Given the description of an element on the screen output the (x, y) to click on. 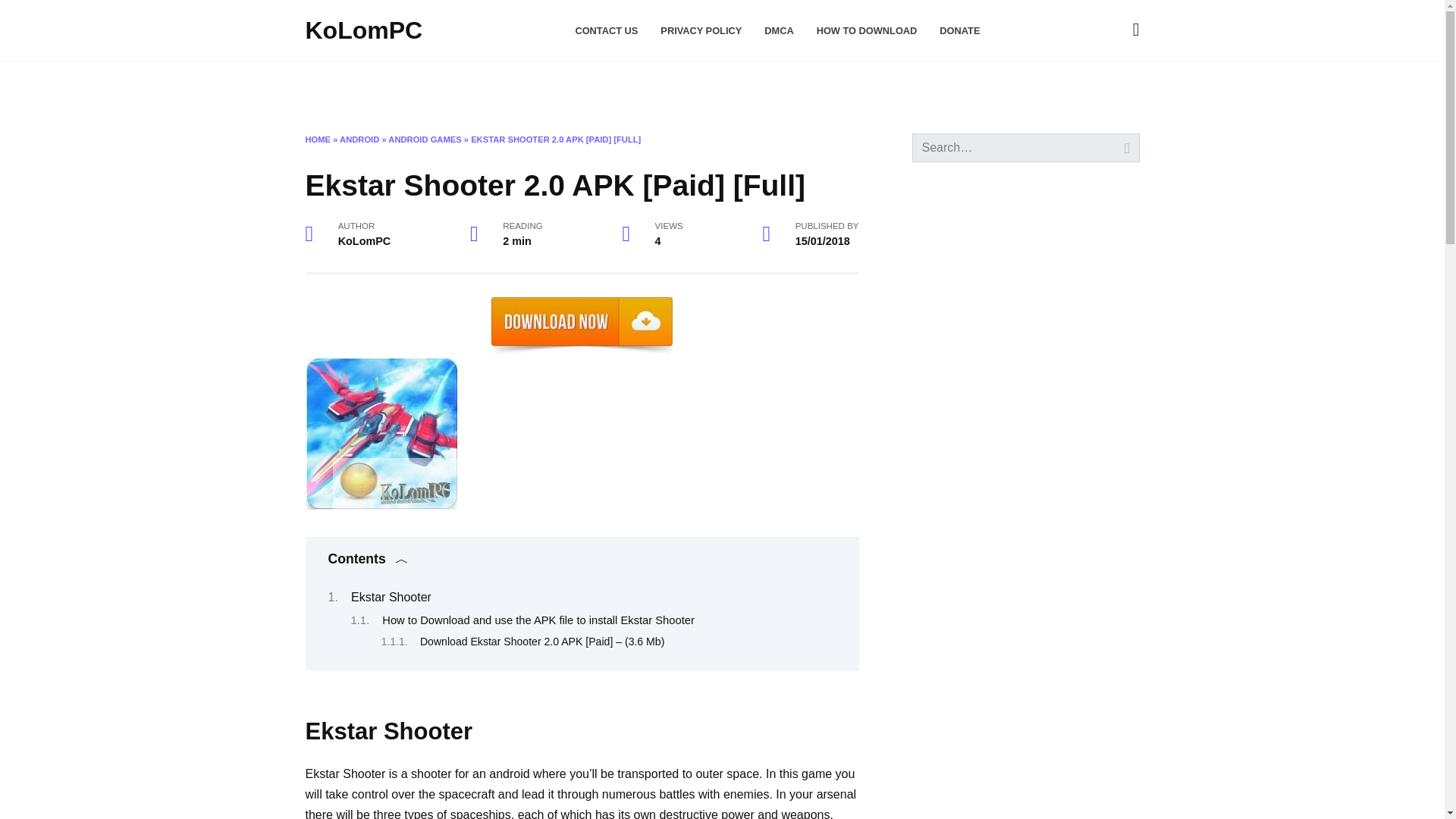
DMCA (778, 30)
DONATE (959, 30)
Portable Apps (655, 86)
PC Games (749, 86)
CONTACT US (606, 30)
macOS (386, 86)
HOW TO DOWNLOAD (866, 30)
ANDROID (358, 139)
ANDROID GAMES (424, 139)
